Given the description of an element on the screen output the (x, y) to click on. 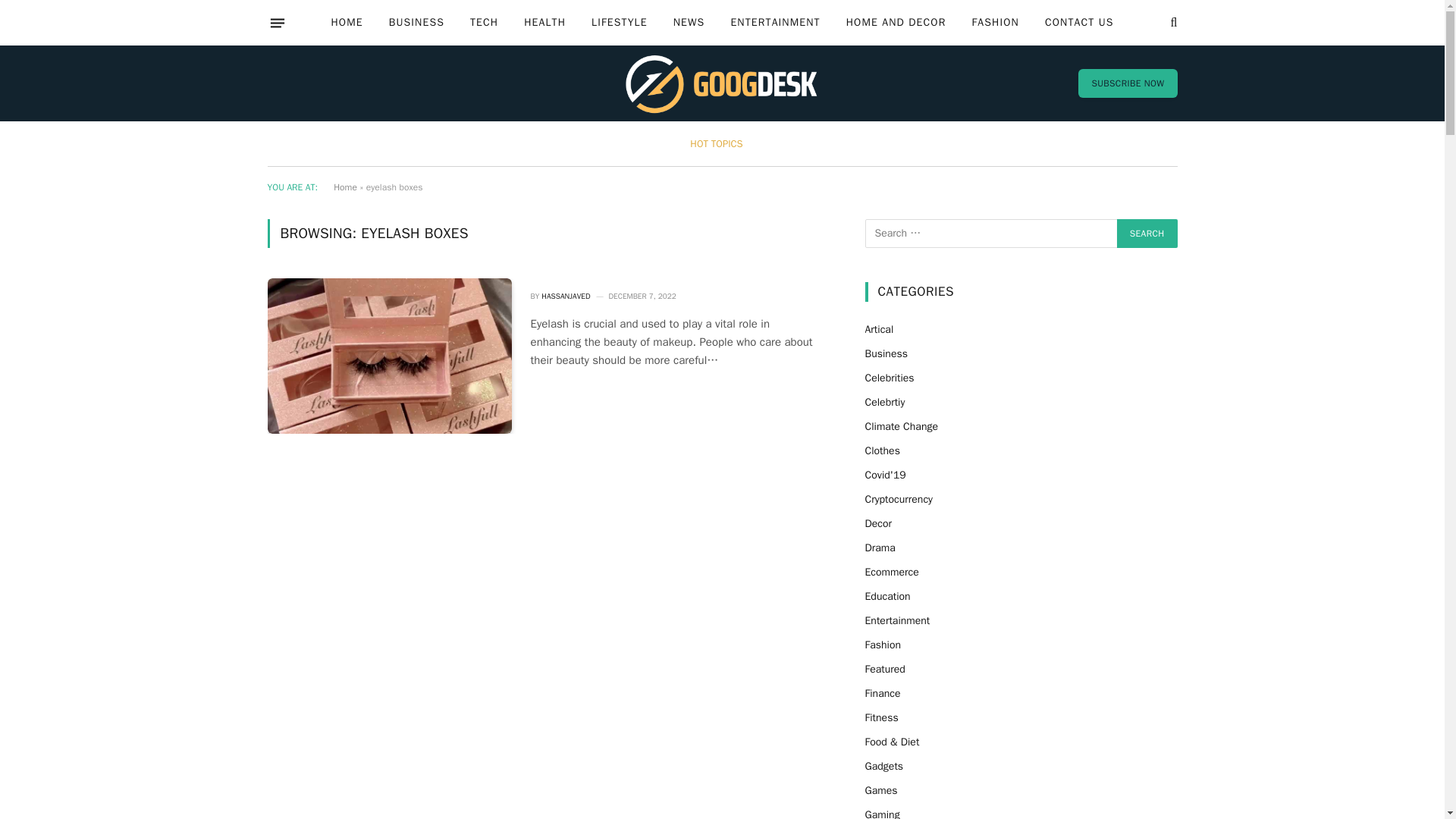
Home (344, 186)
HEALTH (544, 22)
Search (1146, 233)
Googdesk (721, 83)
LIFESTYLE (619, 22)
SUBSCRIBE NOW (1127, 82)
Posts by hassanjaved (565, 296)
HOME AND DECOR (895, 22)
HOME (346, 22)
BUSINESS (416, 22)
